Given the description of an element on the screen output the (x, y) to click on. 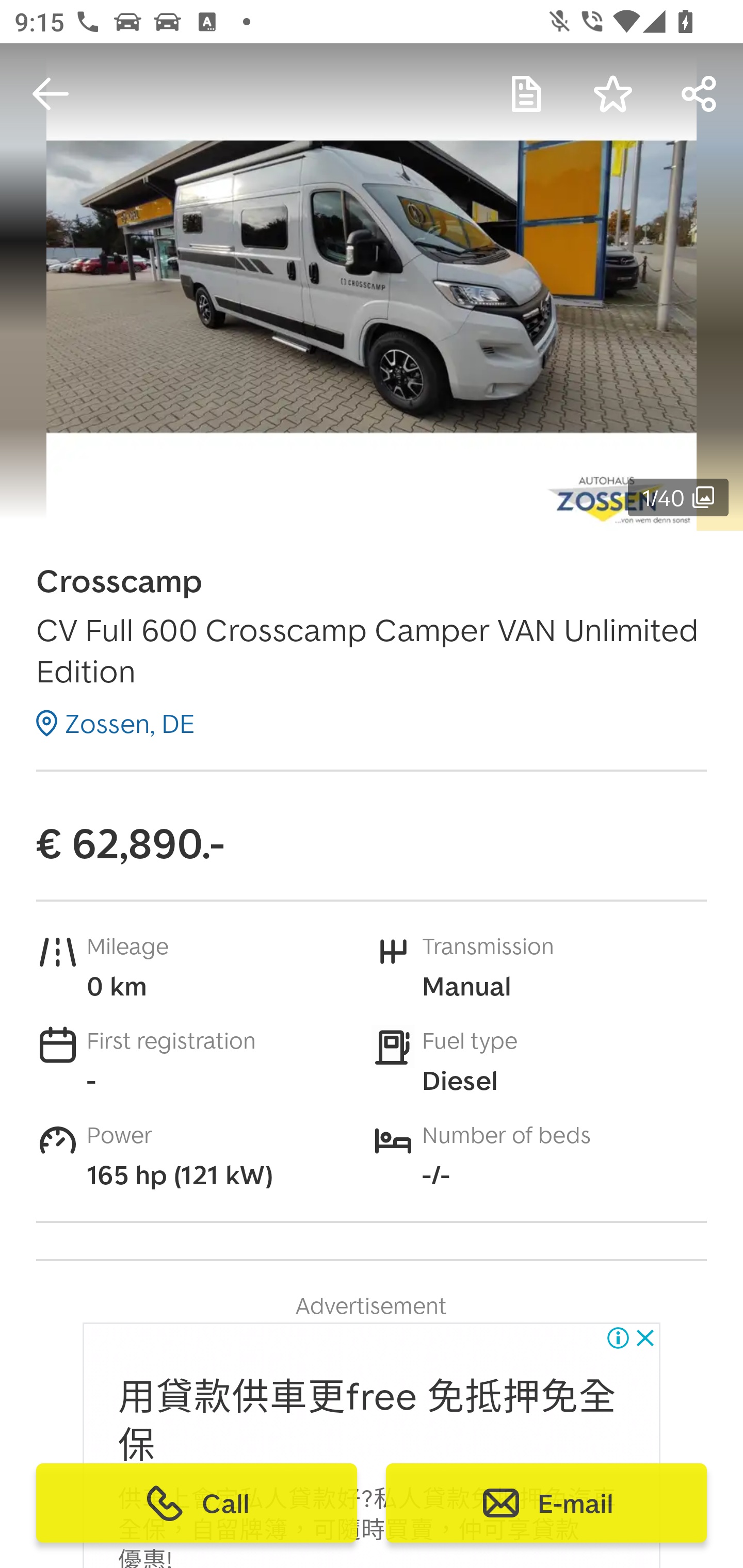
Navigate up (50, 93)
My Notes (525, 93)
Save (612, 93)
Forward (699, 93)
Zossen, DE (115, 722)
用貸款供車更free 免抵押免全 保 用貸款供車更free 免抵押免全 保 (366, 1421)
Call (196, 1502)
E-mail (545, 1502)
